Given the description of an element on the screen output the (x, y) to click on. 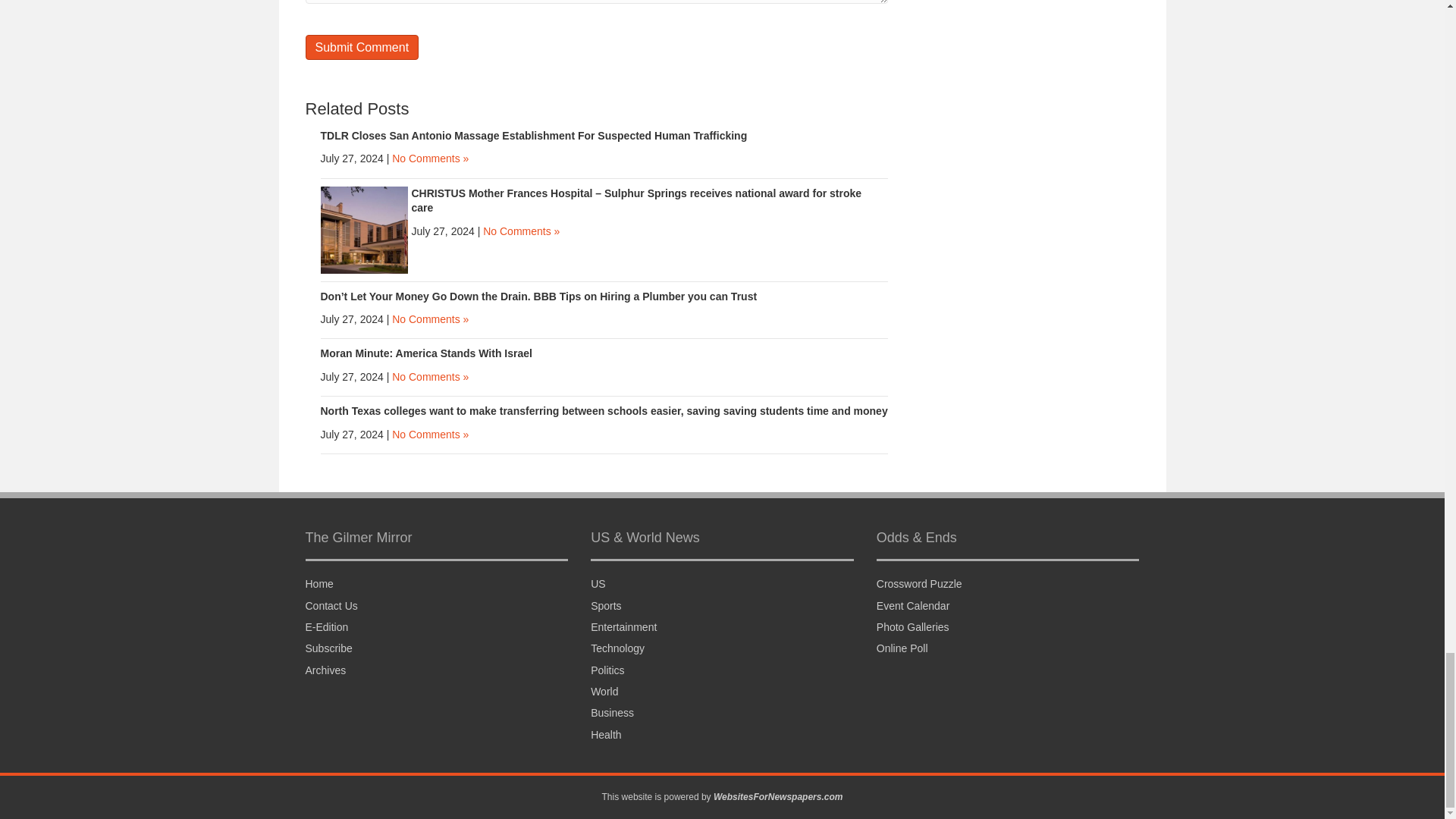
Moran Minute: America Stands With Israel (425, 353)
Submit Comment (361, 47)
